Given the description of an element on the screen output the (x, y) to click on. 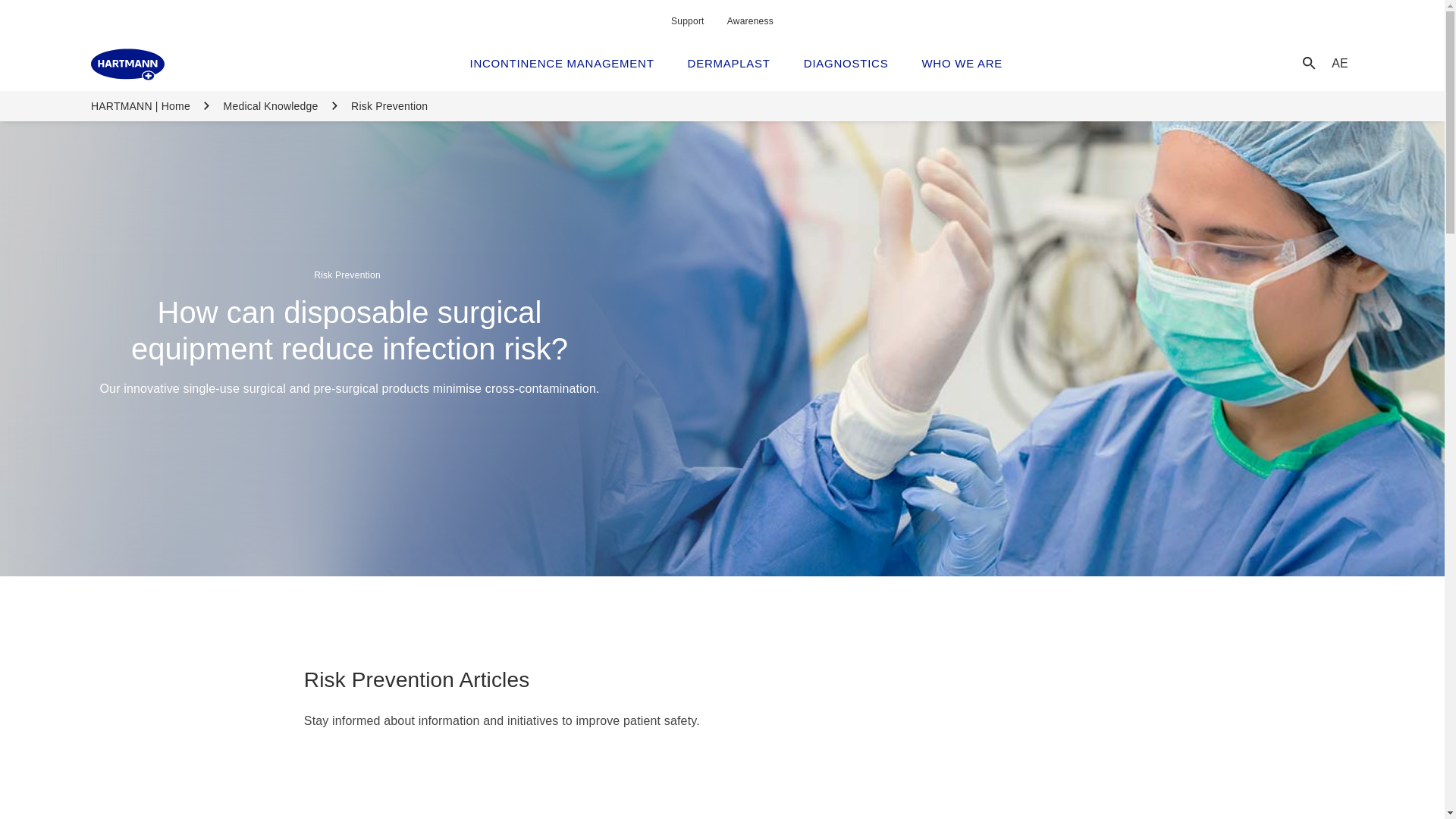
Awareness (749, 20)
DERMAPLAST (729, 63)
DIAGNOSTICS (846, 63)
WHO WE ARE (961, 63)
INCONTINENCE MANAGEMENT (561, 63)
Home (127, 64)
Support (687, 20)
